Given the description of an element on the screen output the (x, y) to click on. 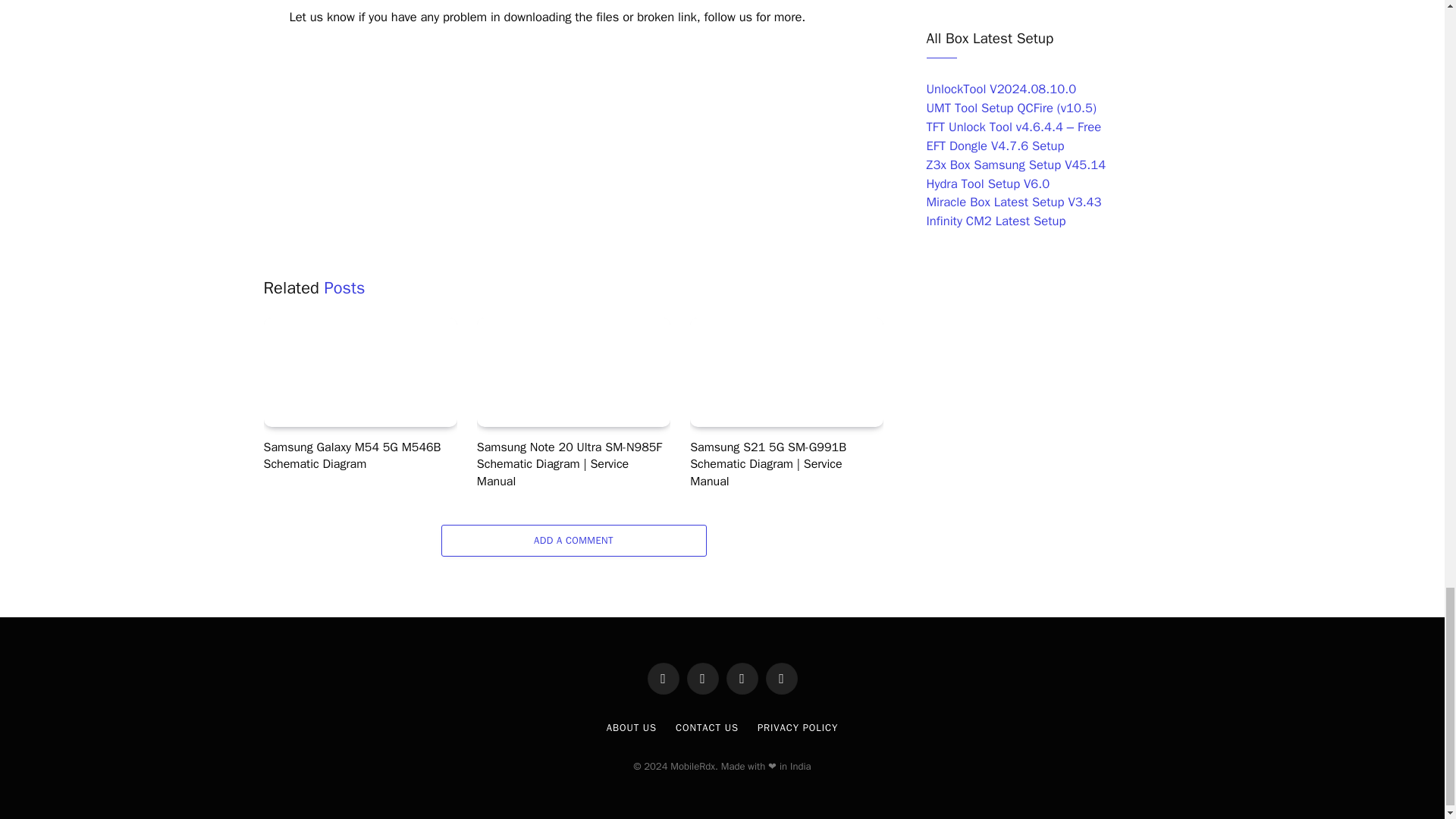
Samsung Galaxy M54 5G M546B Schematic Diagram (360, 371)
ADD A COMMENT (573, 540)
Samsung Galaxy M54 5G M546B Schematic Diagram (360, 455)
